Given the description of an element on the screen output the (x, y) to click on. 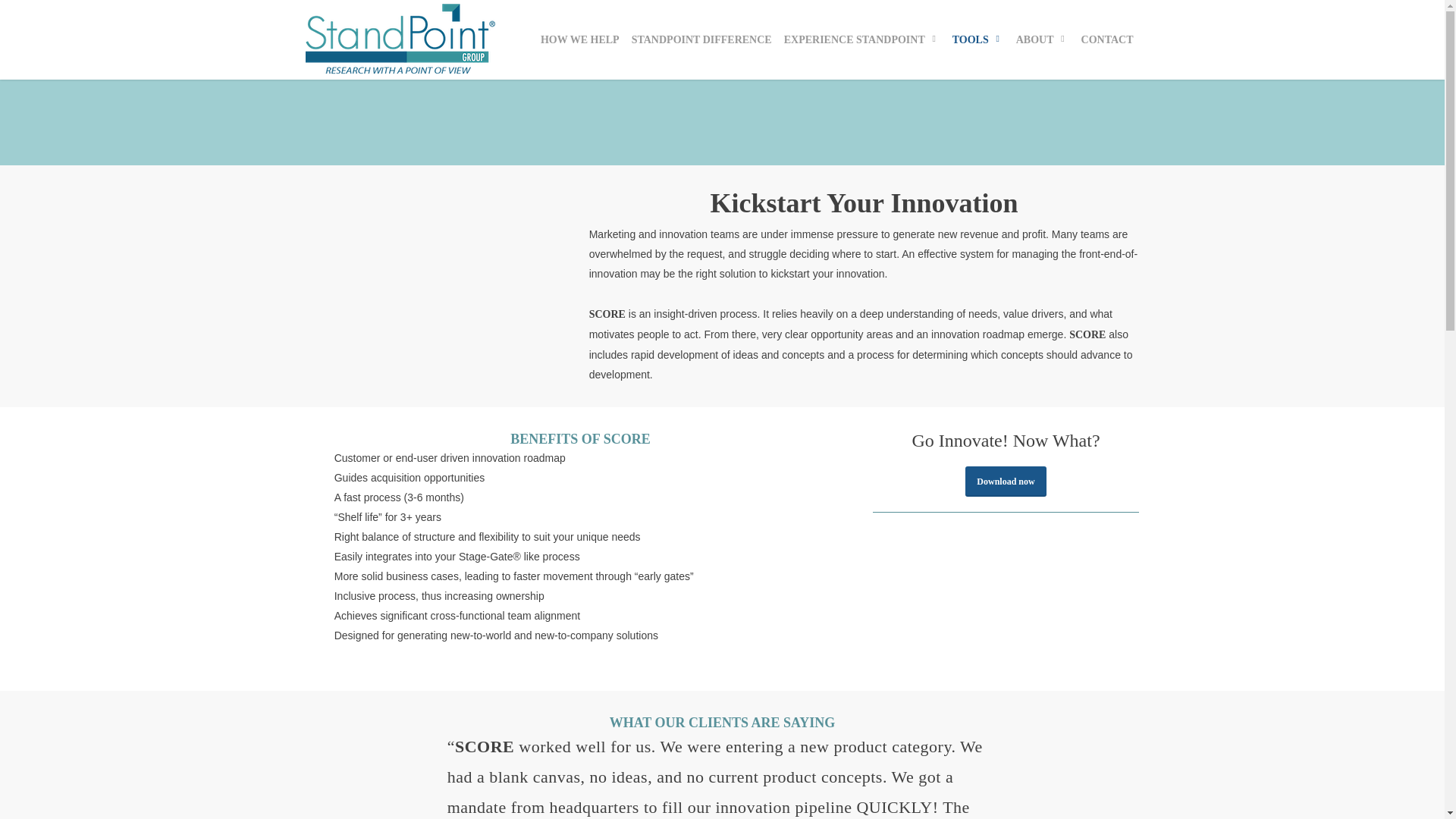
STANDPOINT DIFFERENCE (701, 38)
Connect on LinkedIn (352, 727)
CONTACT (1107, 38)
The Death of Surveys? (785, 695)
Download now (1005, 481)
TOOLS (978, 38)
EXPERIENCE STANDPOINT (861, 38)
You Said Fill the Pipeline (788, 630)
HOW WE HELP (580, 38)
Move Beyond the Table Stakes (803, 662)
